Given the description of an element on the screen output the (x, y) to click on. 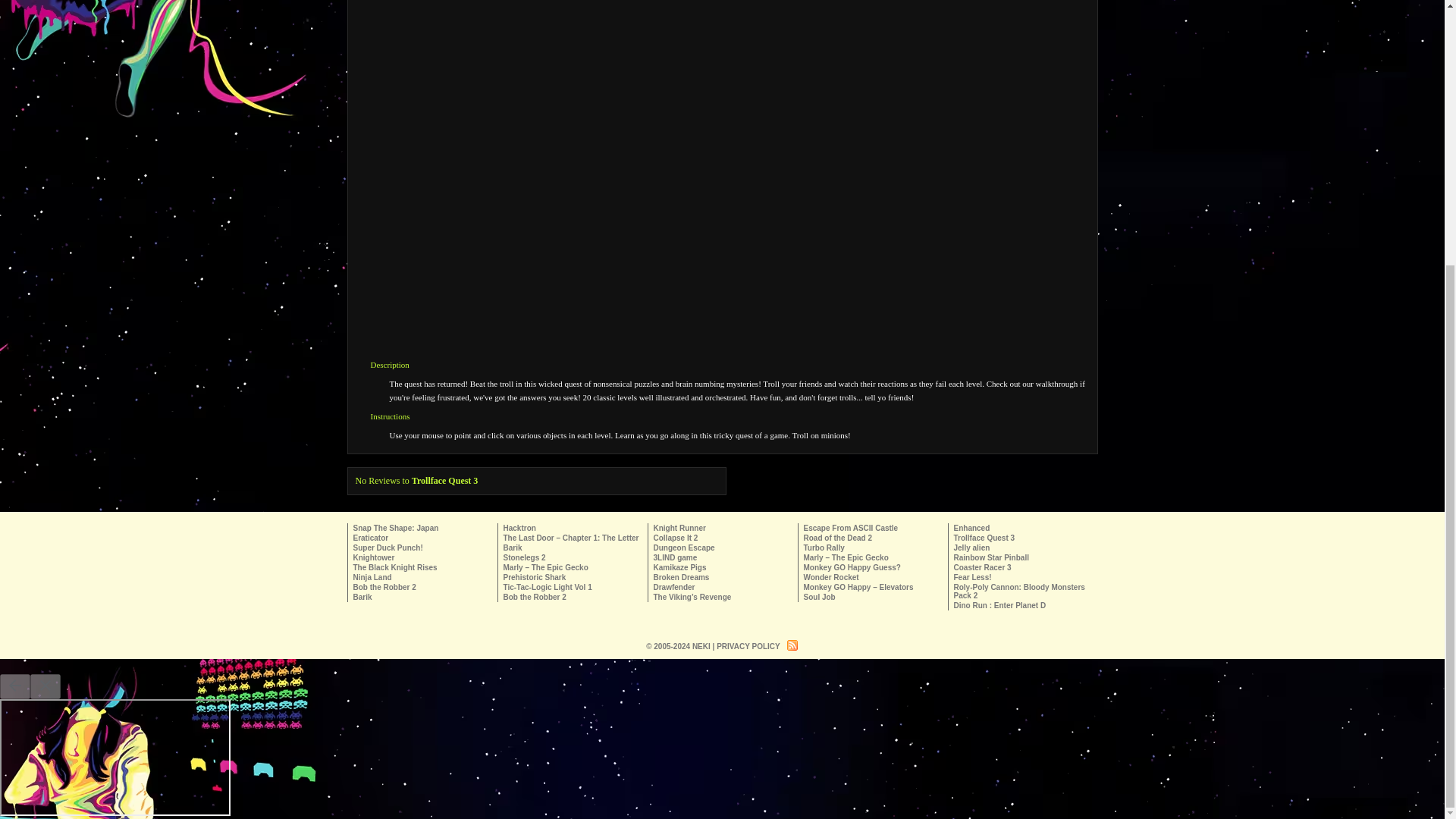
Escape From ASCII Castle (850, 528)
Dungeon Escape (683, 547)
Drawfender (674, 587)
3LIND game (675, 557)
Bob the Robber 2 (384, 587)
Bob the Robber 2 (534, 596)
Ninja Land (372, 577)
Wonder Rocket (831, 577)
Prehistoric Shark (534, 577)
Broken Dreams (681, 577)
Hacktron (519, 528)
Soul Job (819, 596)
Snap The Shape: Japan (396, 528)
Barik (512, 547)
Stonelegs 2 (524, 557)
